Given the description of an element on the screen output the (x, y) to click on. 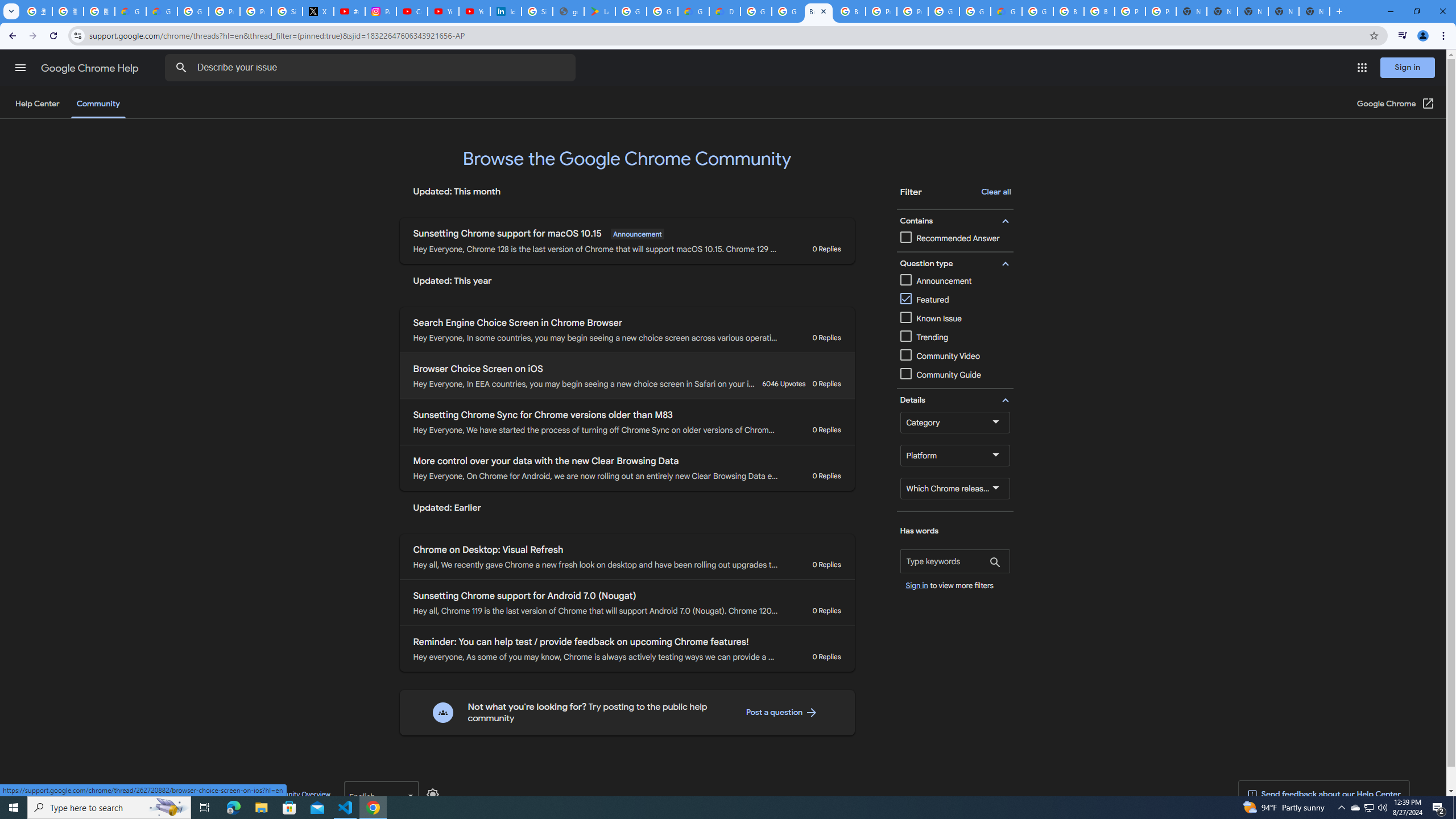
Government | Google Cloud (693, 11)
Privacy Help Center - Policies Help (255, 11)
Disable Dark Mode (432, 794)
Clear all (995, 192)
Help Center (36, 103)
 Apply filter  (995, 562)
Known Issue (954, 318)
